Given the description of an element on the screen output the (x, y) to click on. 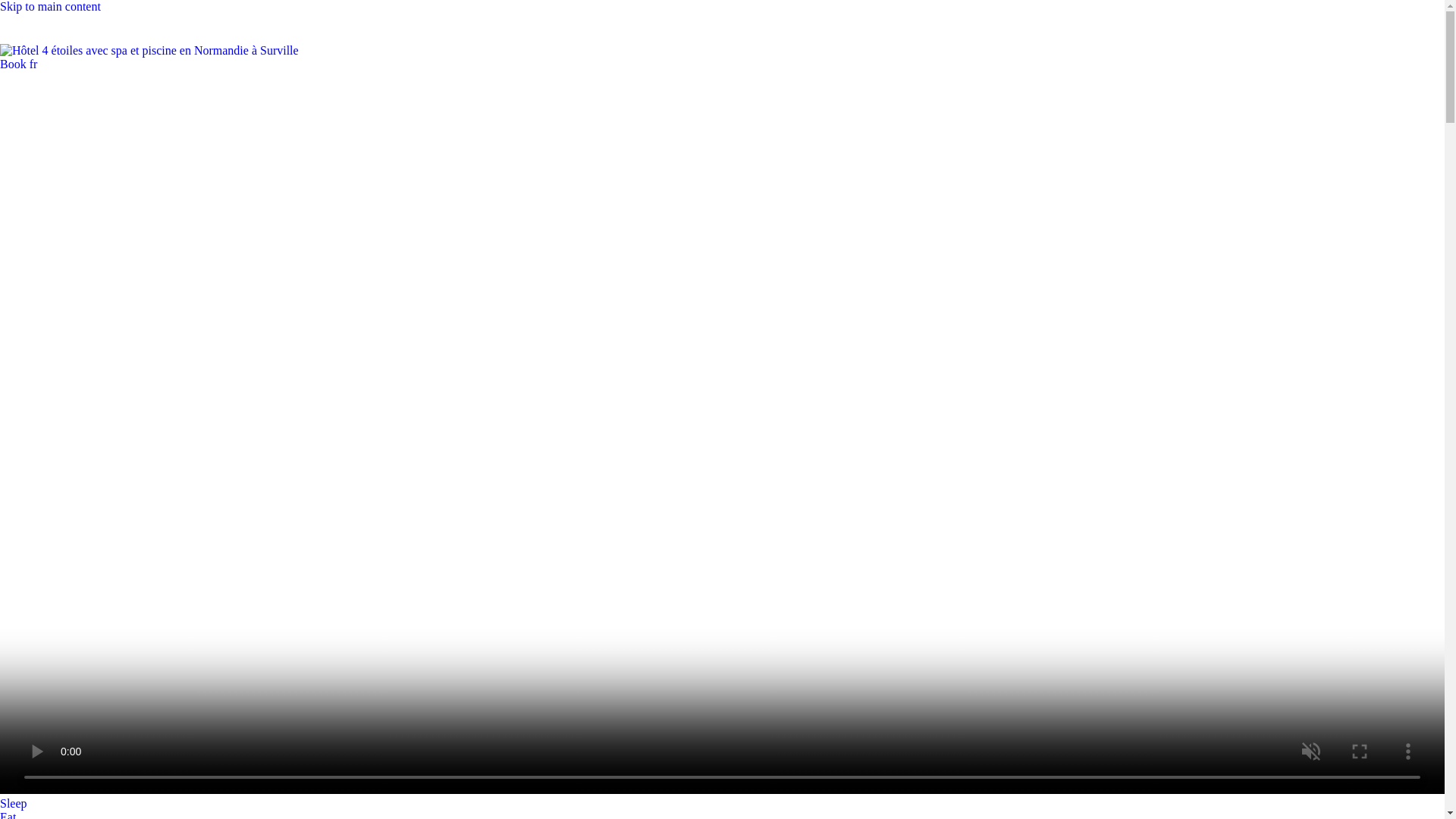
Sleep (13, 802)
Skip to main content (50, 6)
Eat (8, 814)
Book (14, 63)
Manoir de Surville (149, 50)
